Given the description of an element on the screen output the (x, y) to click on. 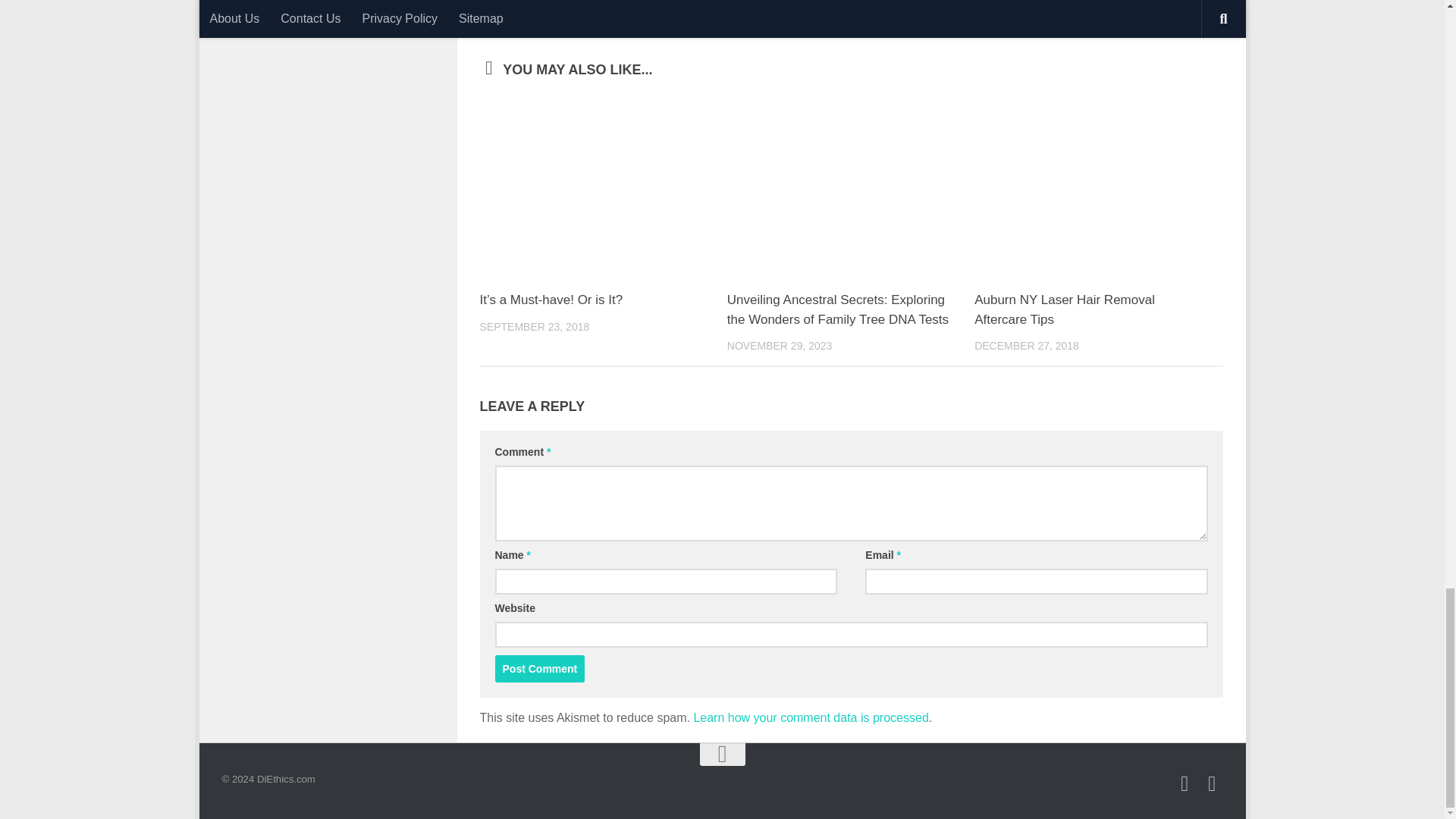
Post Comment (540, 668)
